Given the description of an element on the screen output the (x, y) to click on. 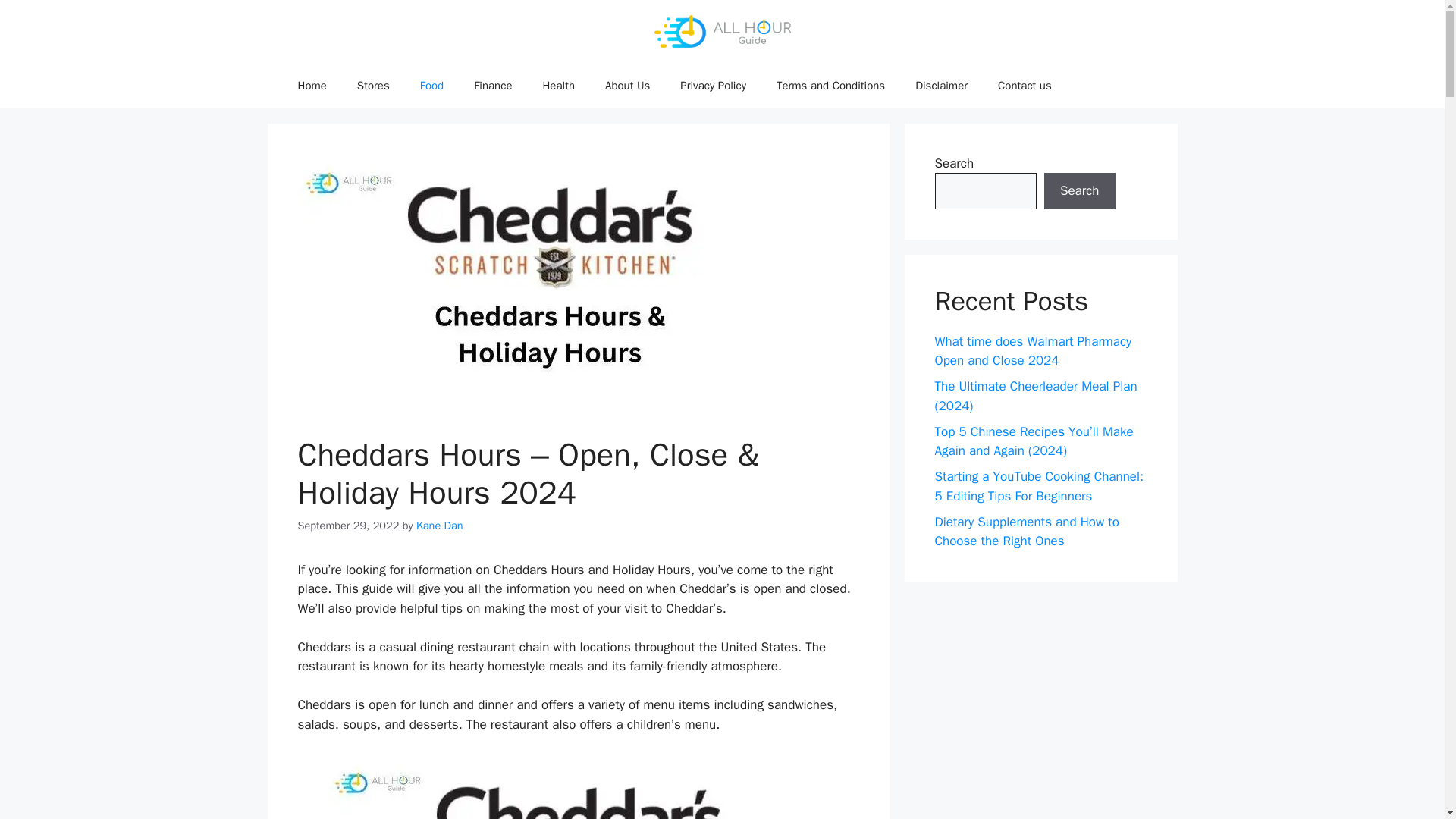
Privacy Policy (713, 85)
Home (311, 85)
Disclaimer (940, 85)
What time does Walmart Pharmacy Open and Close 2024 (1032, 351)
Search (1079, 190)
Dietary Supplements and How to Choose the Right Ones (1026, 531)
Food (431, 85)
Stores (373, 85)
View all posts by Kane Dan (439, 525)
Kane Dan (439, 525)
Health (558, 85)
About Us (627, 85)
Contact us (1024, 85)
Terms and Conditions (830, 85)
